Given the description of an element on the screen output the (x, y) to click on. 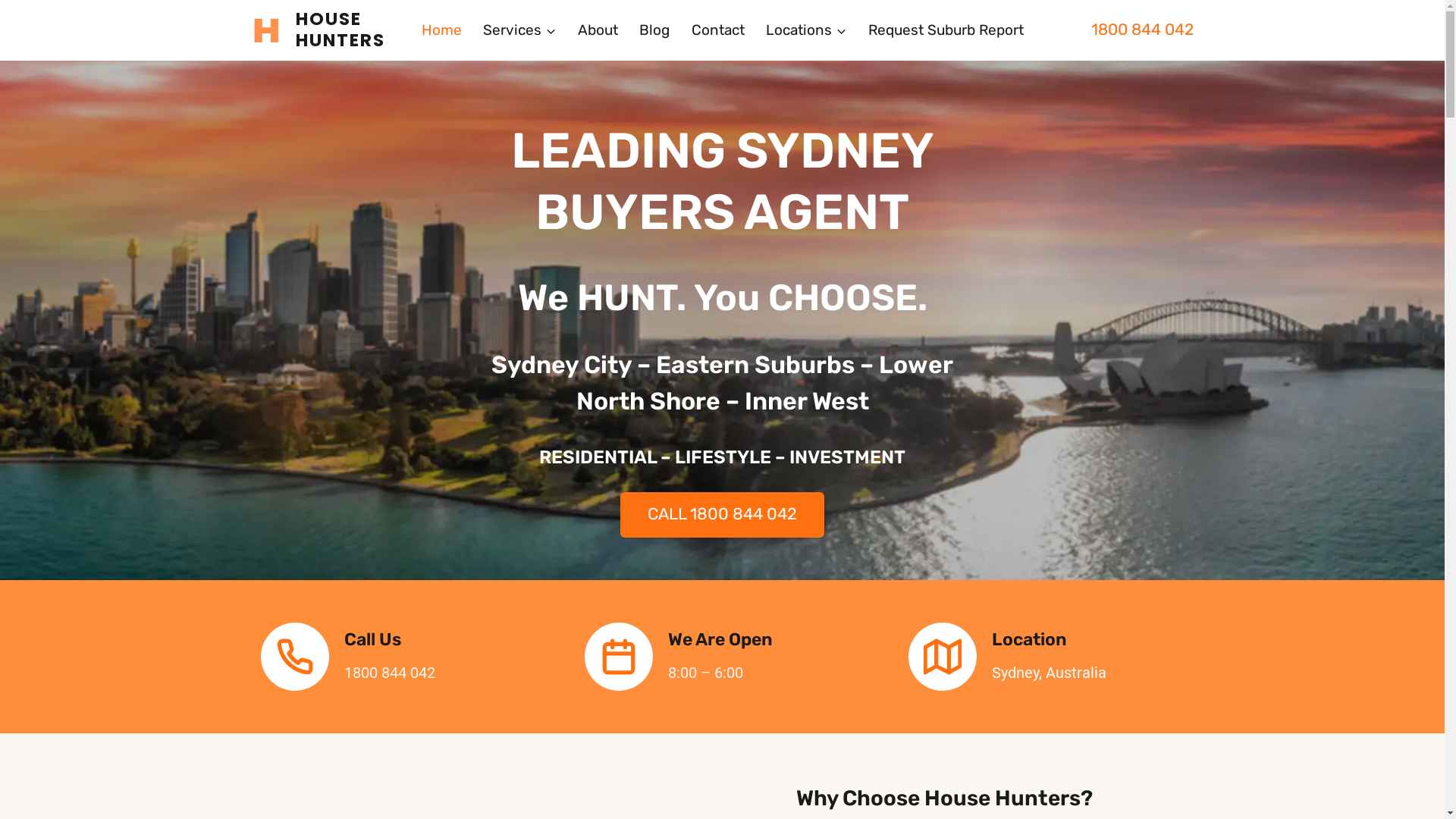
Contact Element type: text (717, 29)
CALL 1800 844 042 Element type: text (722, 514)
Services Element type: text (519, 29)
HOUSE HUNTERS Element type: text (327, 29)
1800 844 042 Element type: text (1141, 28)
Call Us
1800 844 042 Element type: text (398, 656)
Locations Element type: text (806, 29)
Home Element type: text (441, 29)
Blog Element type: text (654, 29)
Request Suburb Report Element type: text (945, 29)
About Element type: text (597, 29)
